Given the description of an element on the screen output the (x, y) to click on. 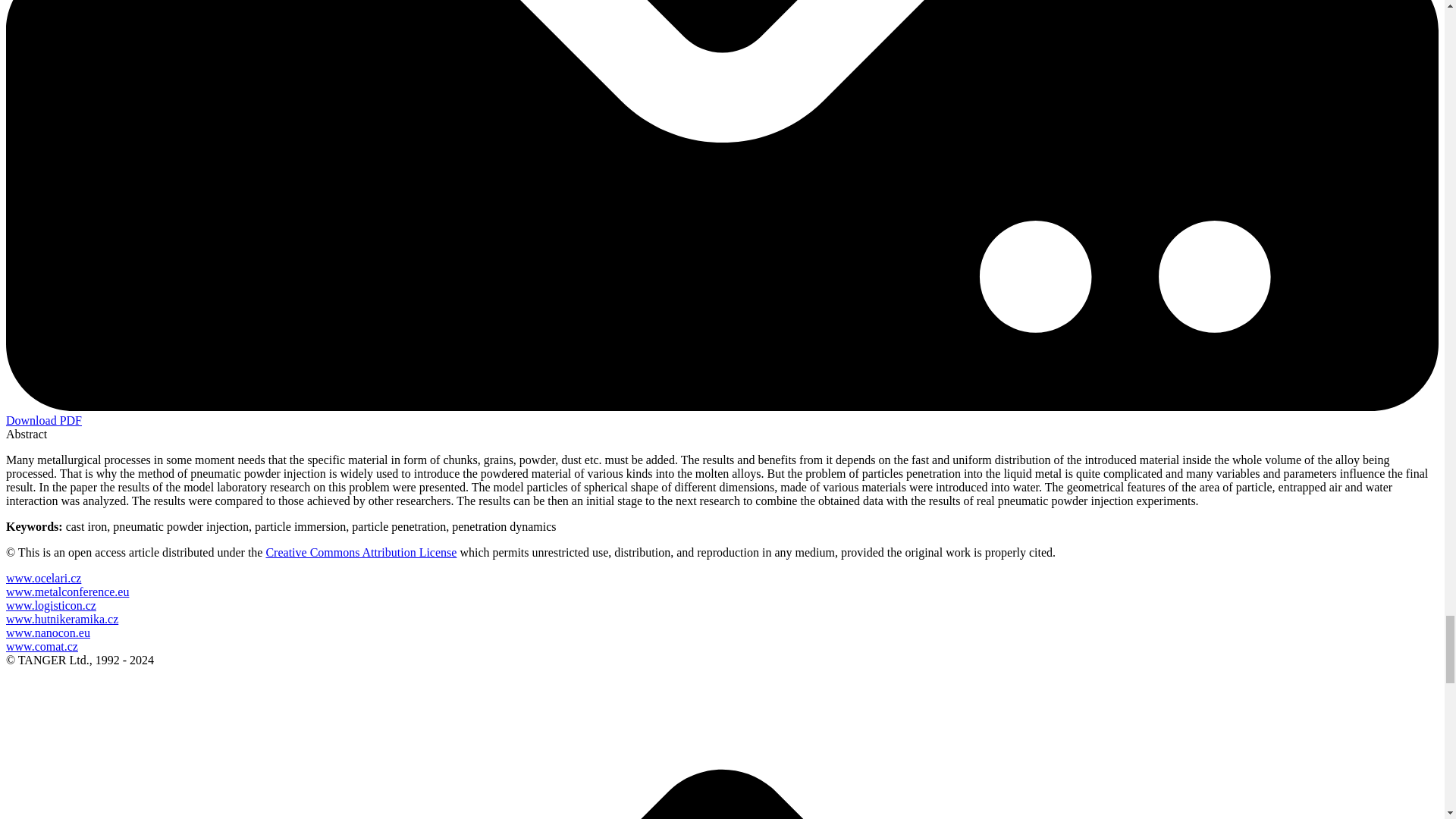
Creative Commons Attribution License (360, 552)
